Given the description of an element on the screen output the (x, y) to click on. 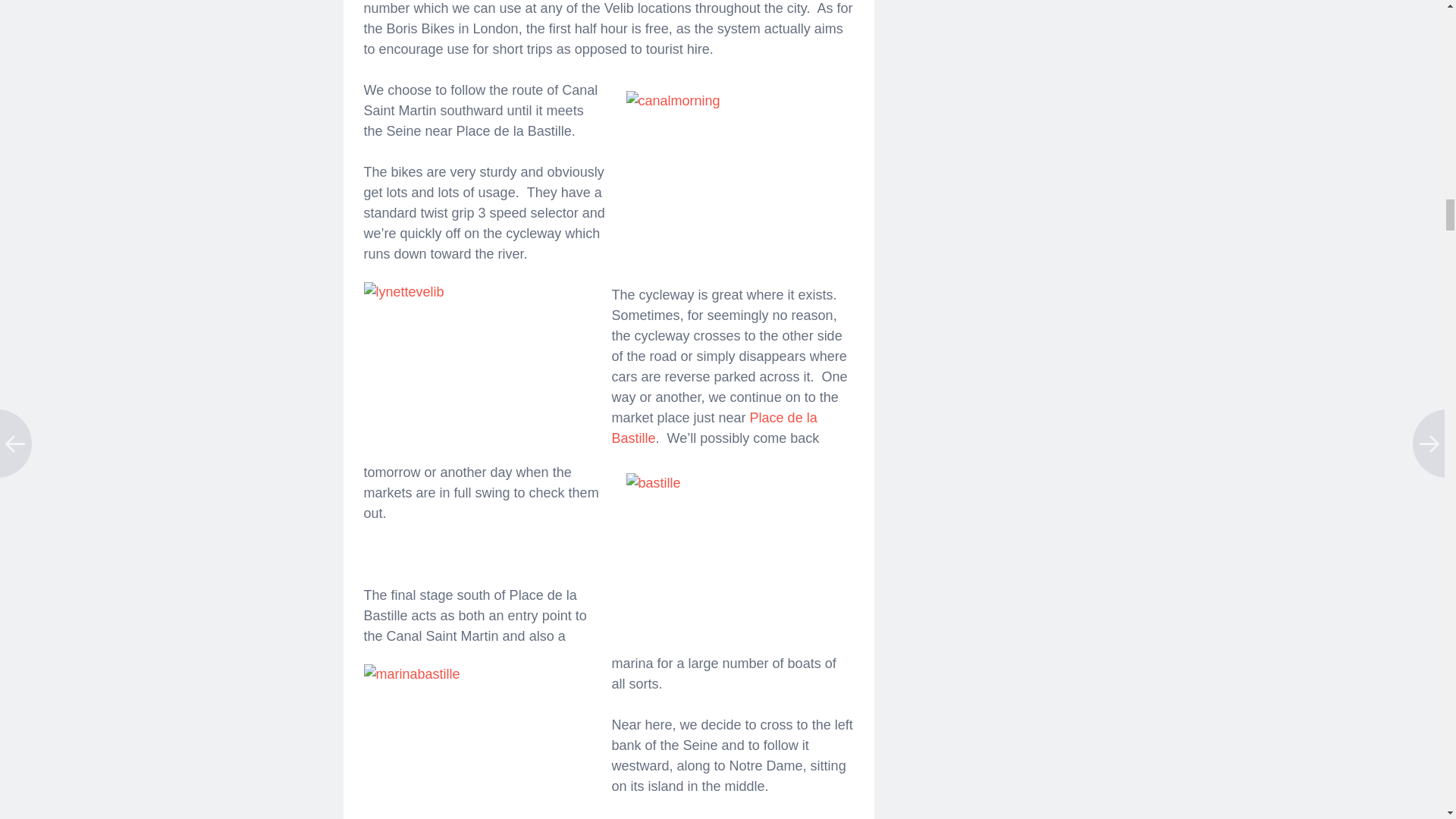
Place de la Bastille (713, 427)
